Given the description of an element on the screen output the (x, y) to click on. 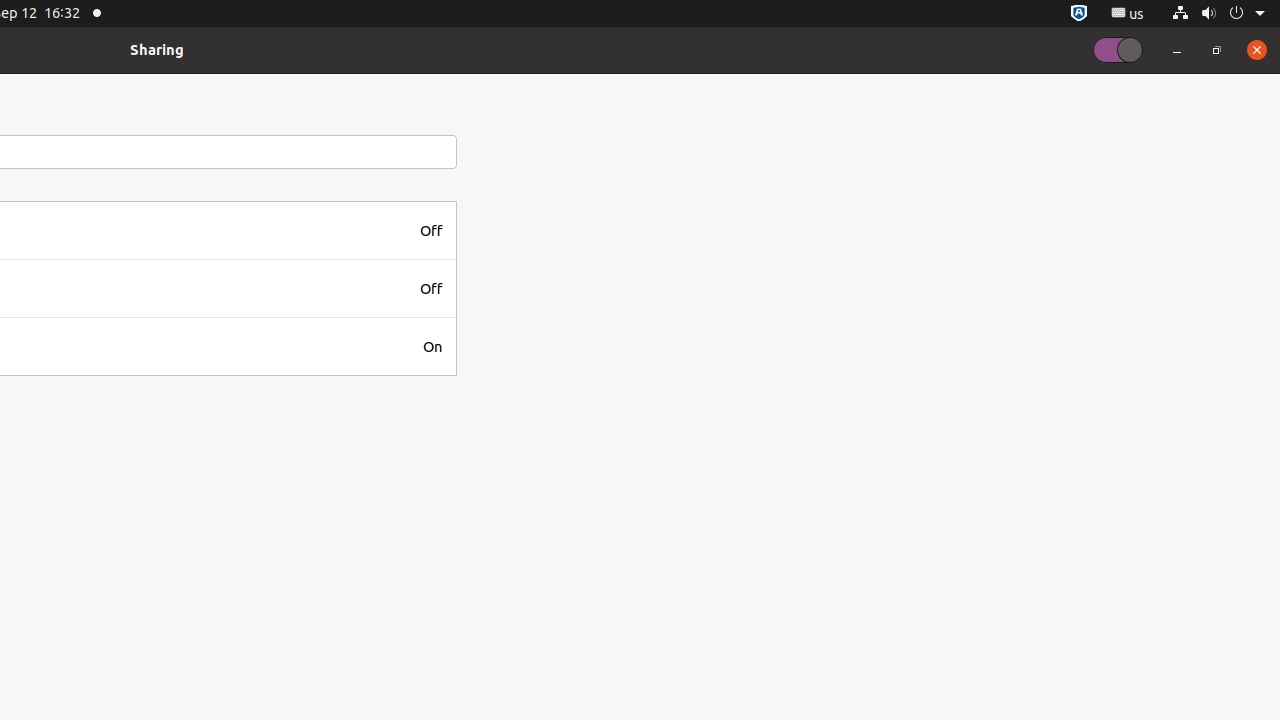
Close Element type: push-button (1257, 50)
Minimize Element type: push-button (1177, 50)
